Given the description of an element on the screen output the (x, y) to click on. 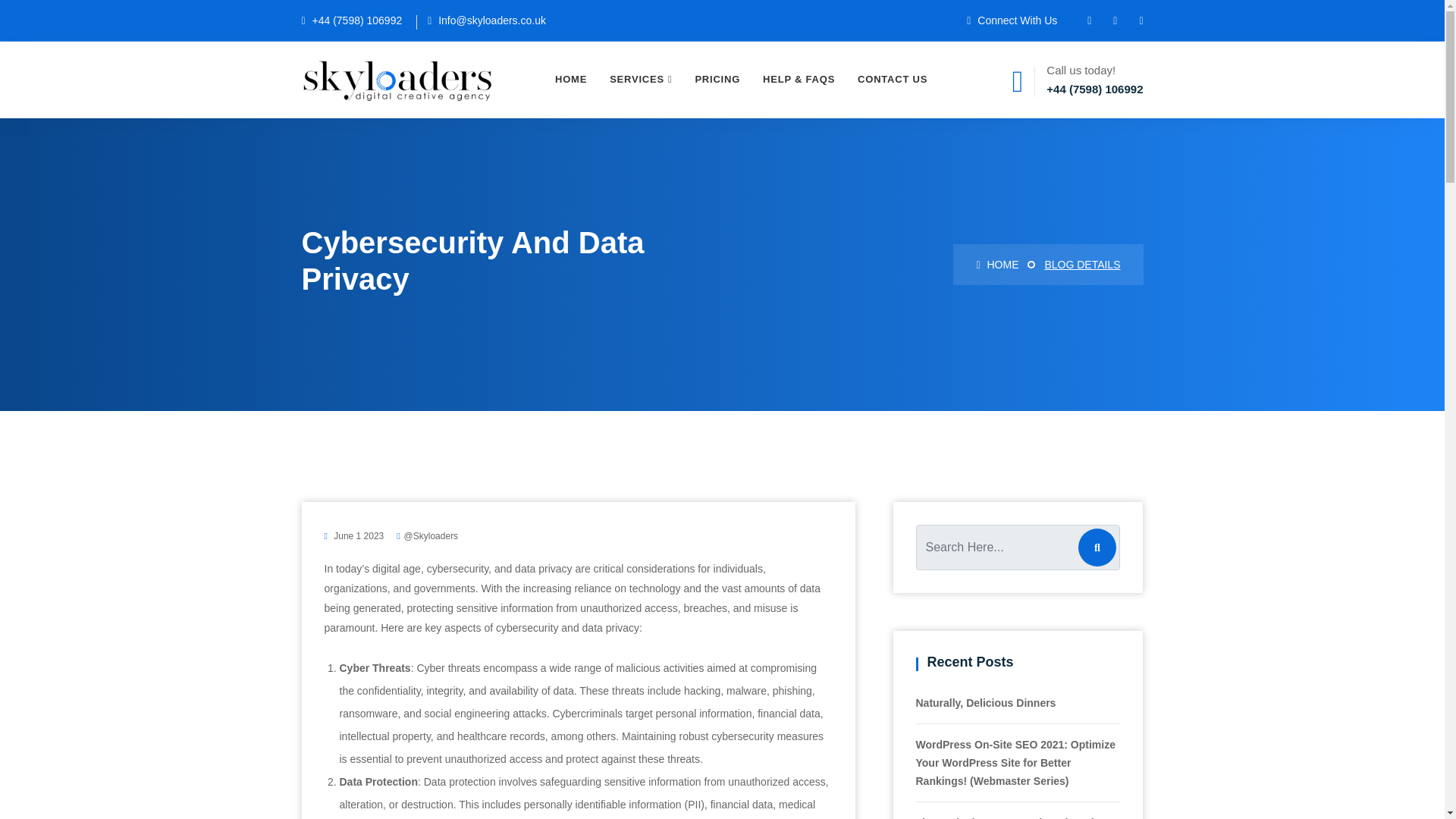
HOME (996, 264)
SERVICES (640, 79)
PRICING (716, 79)
PRICING (716, 79)
Contact Us (892, 79)
Naturally, Delicious Dinners (986, 702)
CONTACT US (892, 79)
Services (640, 79)
